Given the description of an element on the screen output the (x, y) to click on. 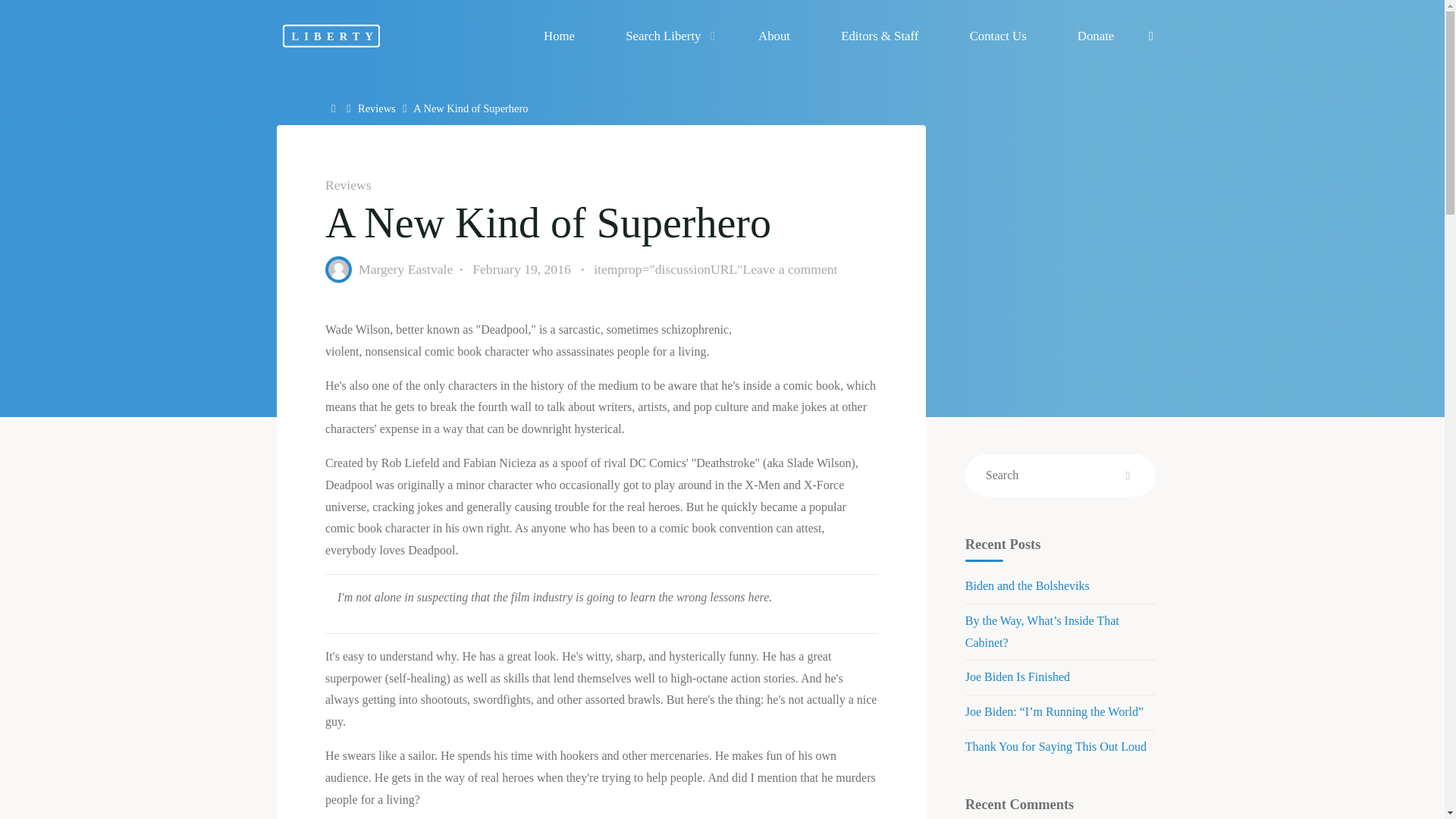
Search Liberty (666, 35)
View all posts by Margery Eastvale (404, 268)
Reviews (347, 184)
Home (334, 108)
Margery Eastvale (404, 268)
About (773, 35)
LIBERTY (331, 35)
Donate (1095, 35)
Contact Us (997, 35)
Home (334, 108)
Leave a comment (789, 268)
Home (558, 35)
Reviews (377, 108)
Jump to comments (715, 269)
